Given the description of an element on the screen output the (x, y) to click on. 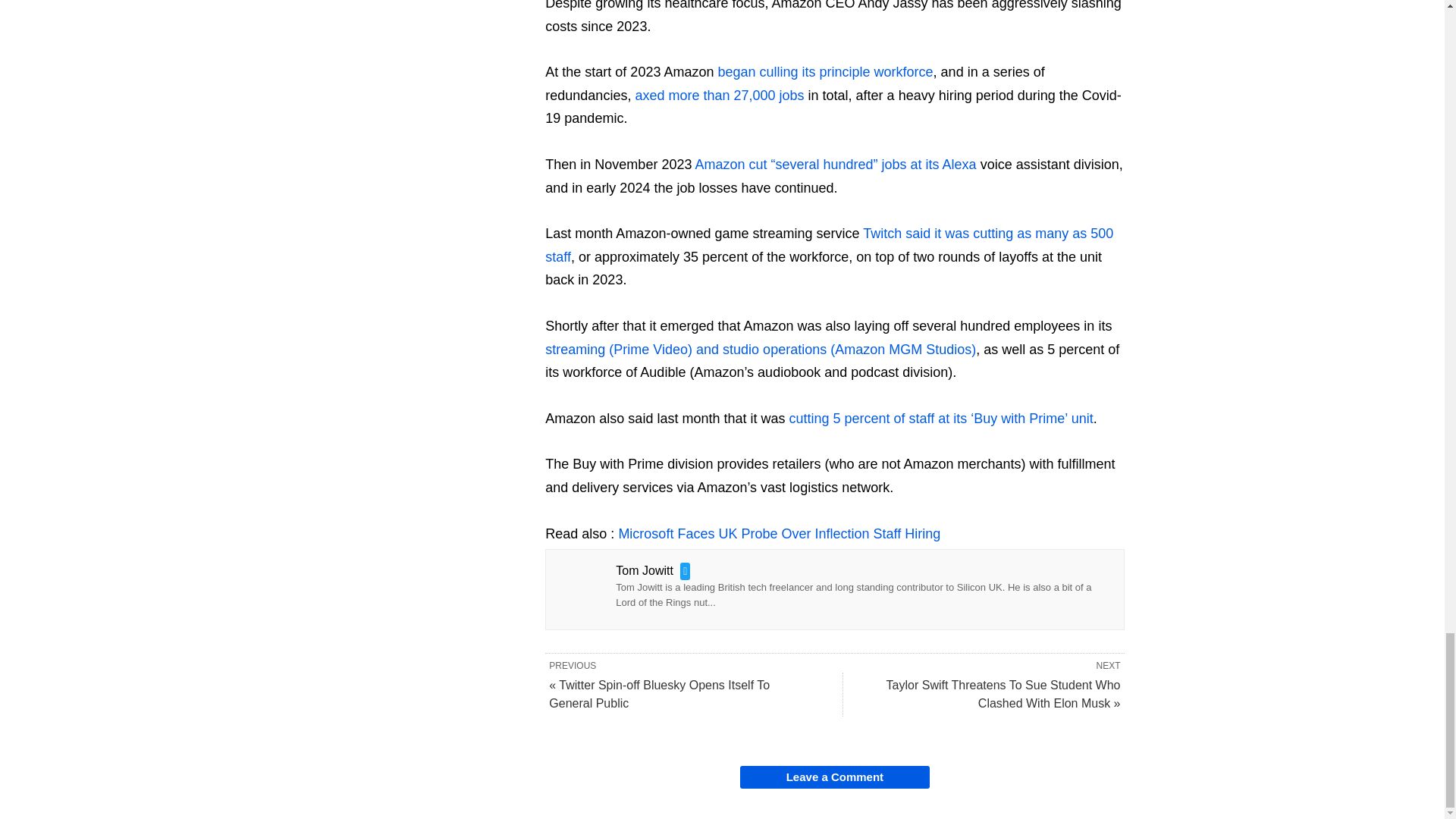
Twitch said it was cutting as many as 500 staff (828, 245)
axed more than 27,000 jobs (718, 95)
began culling its principle workforce (825, 71)
Leave a Comment (834, 776)
